Given the description of an element on the screen output the (x, y) to click on. 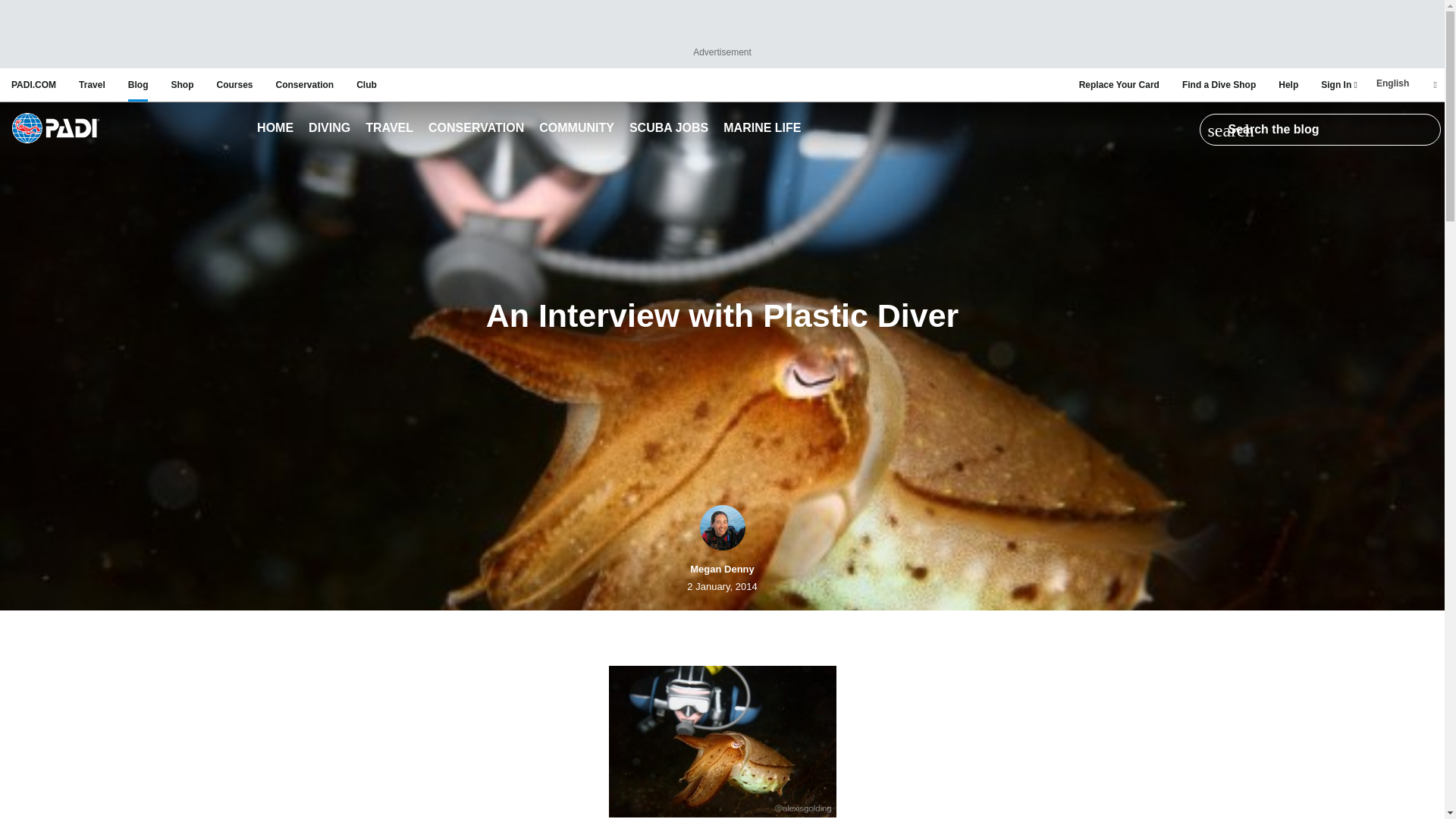
Scuba Jobs (668, 128)
PADI.COM (33, 84)
Plastic Diver and Cuttlefish (721, 741)
HOME (275, 128)
Replace Your Card (1118, 84)
DIVING (329, 128)
CONSERVATION (475, 128)
COMMUNITY (576, 128)
Travel (389, 128)
Marine Life (762, 128)
